Given the description of an element on the screen output the (x, y) to click on. 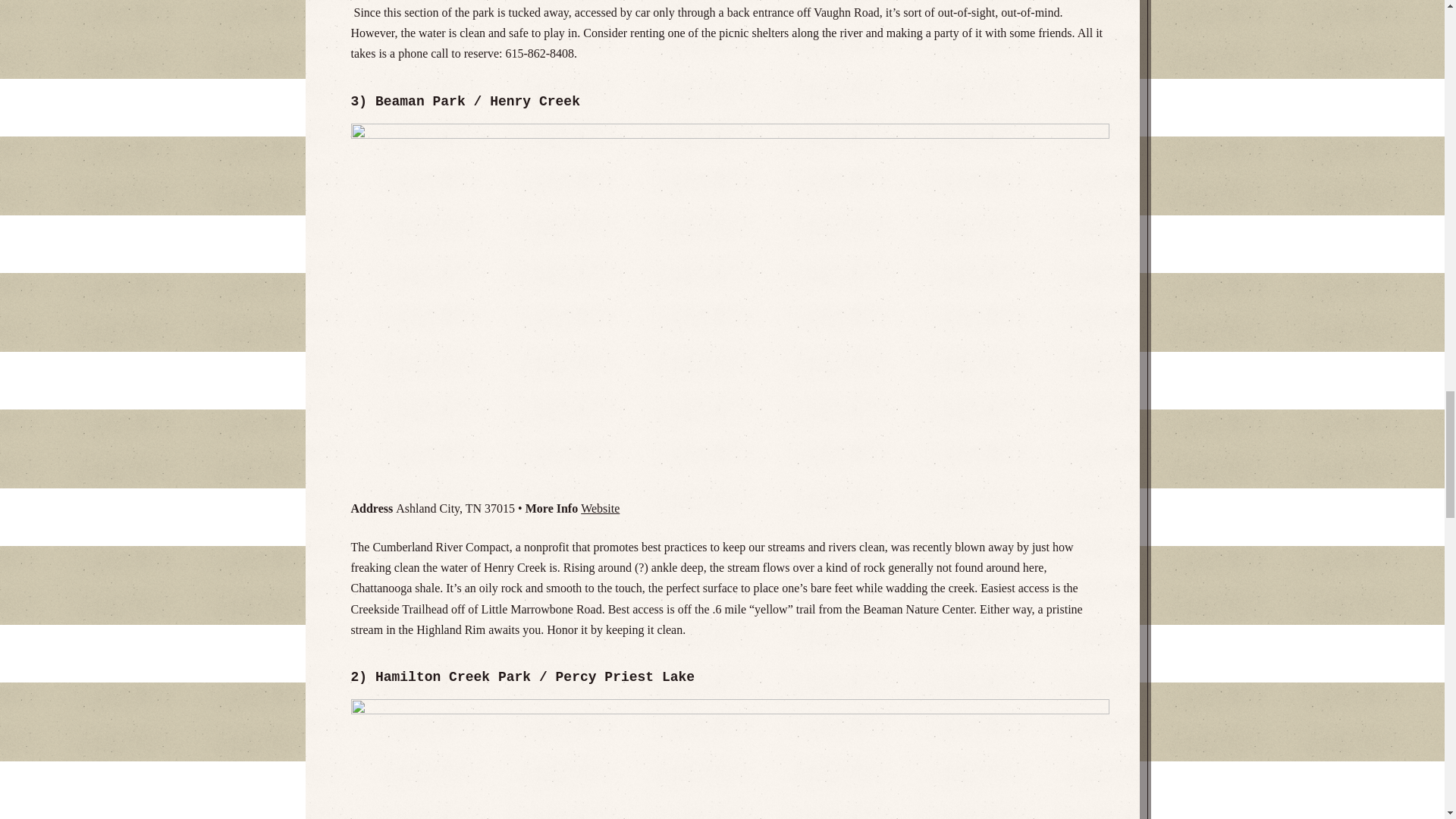
Website (600, 508)
